Given the description of an element on the screen output the (x, y) to click on. 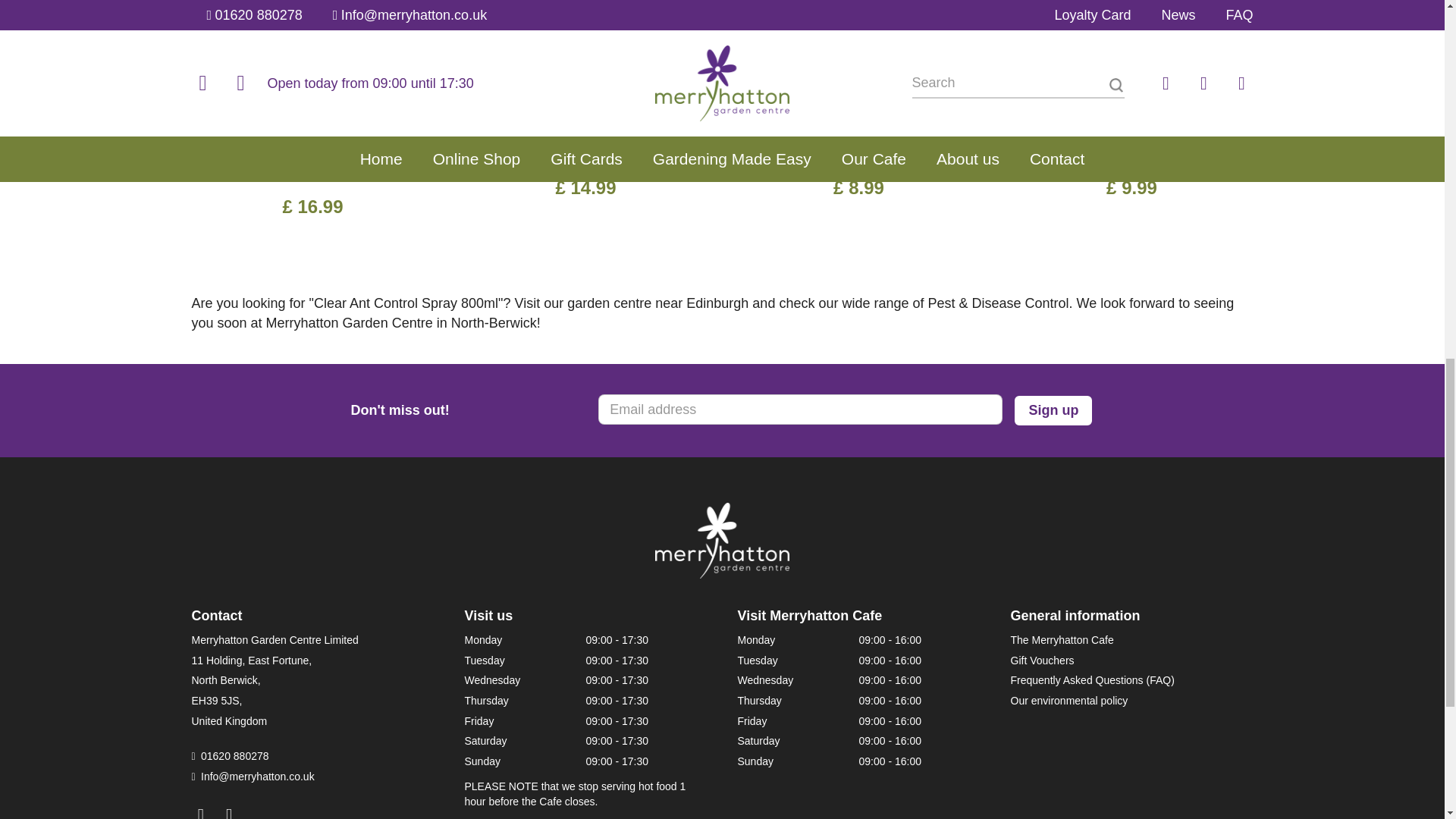
Sign up (1053, 409)
